Given the description of an element on the screen output the (x, y) to click on. 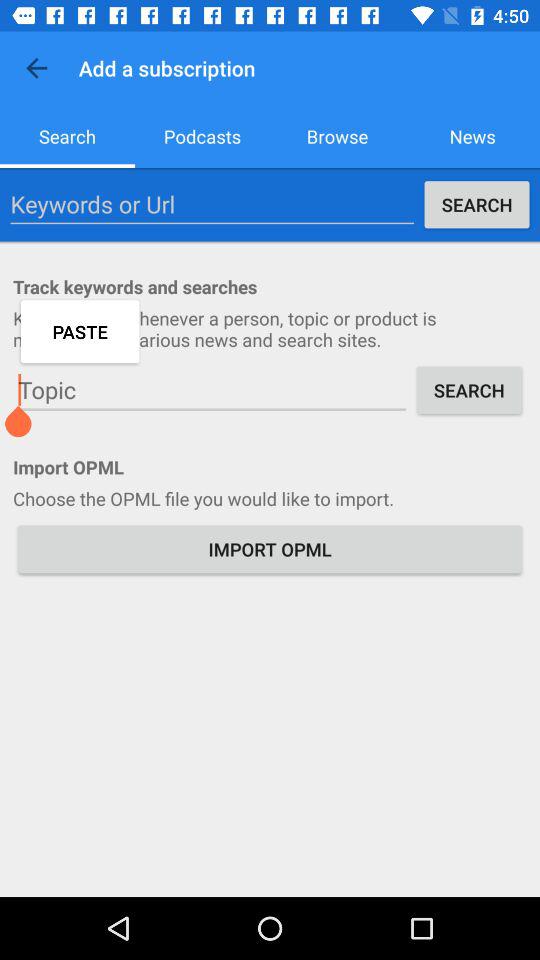
turn on icon above the import opml item (212, 390)
